Given the description of an element on the screen output the (x, y) to click on. 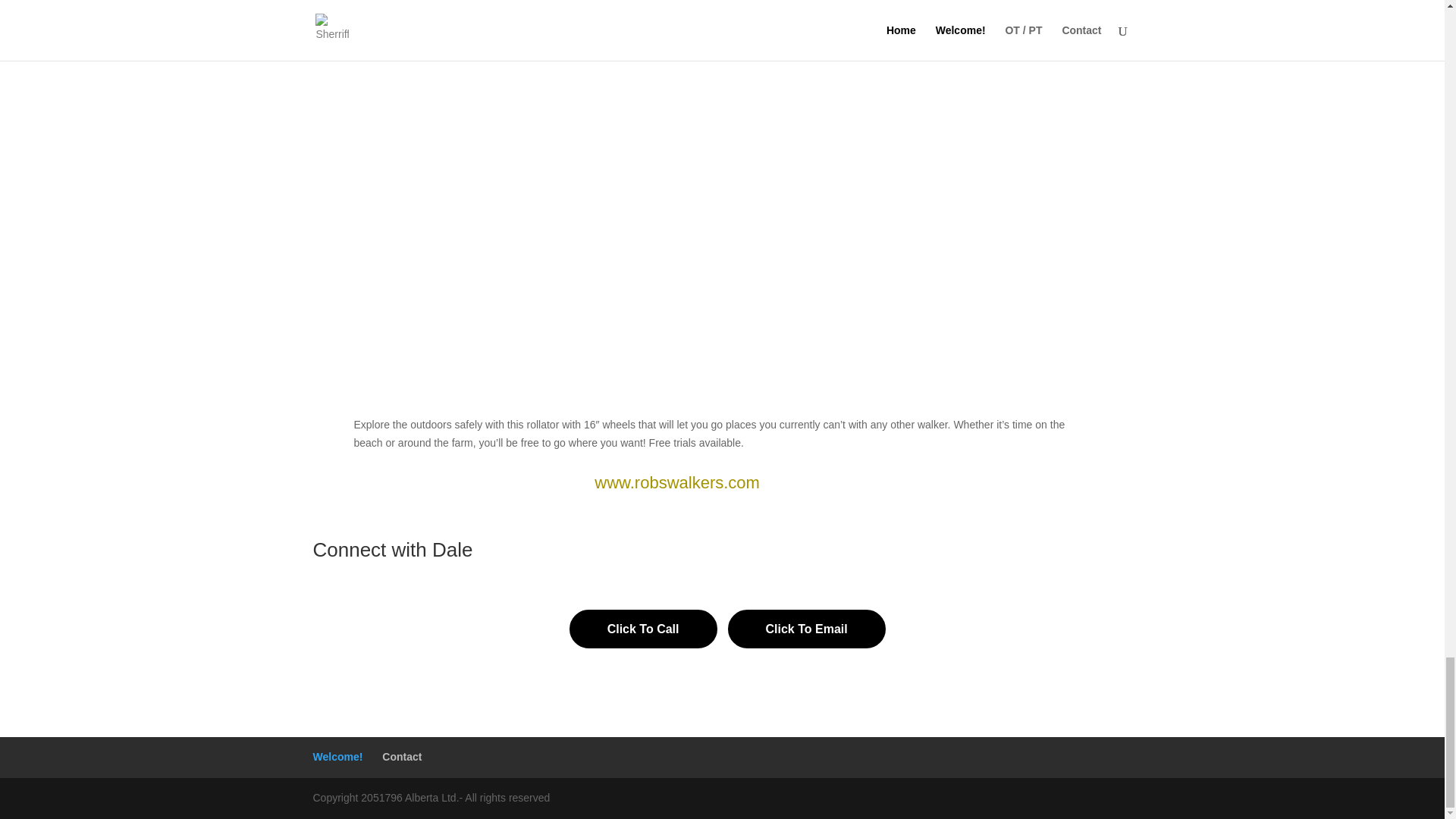
Click To Call (643, 629)
Welcome! (337, 756)
Contact (401, 756)
www.robswalkers.com (677, 482)
Click To Email (806, 629)
